Given the description of an element on the screen output the (x, y) to click on. 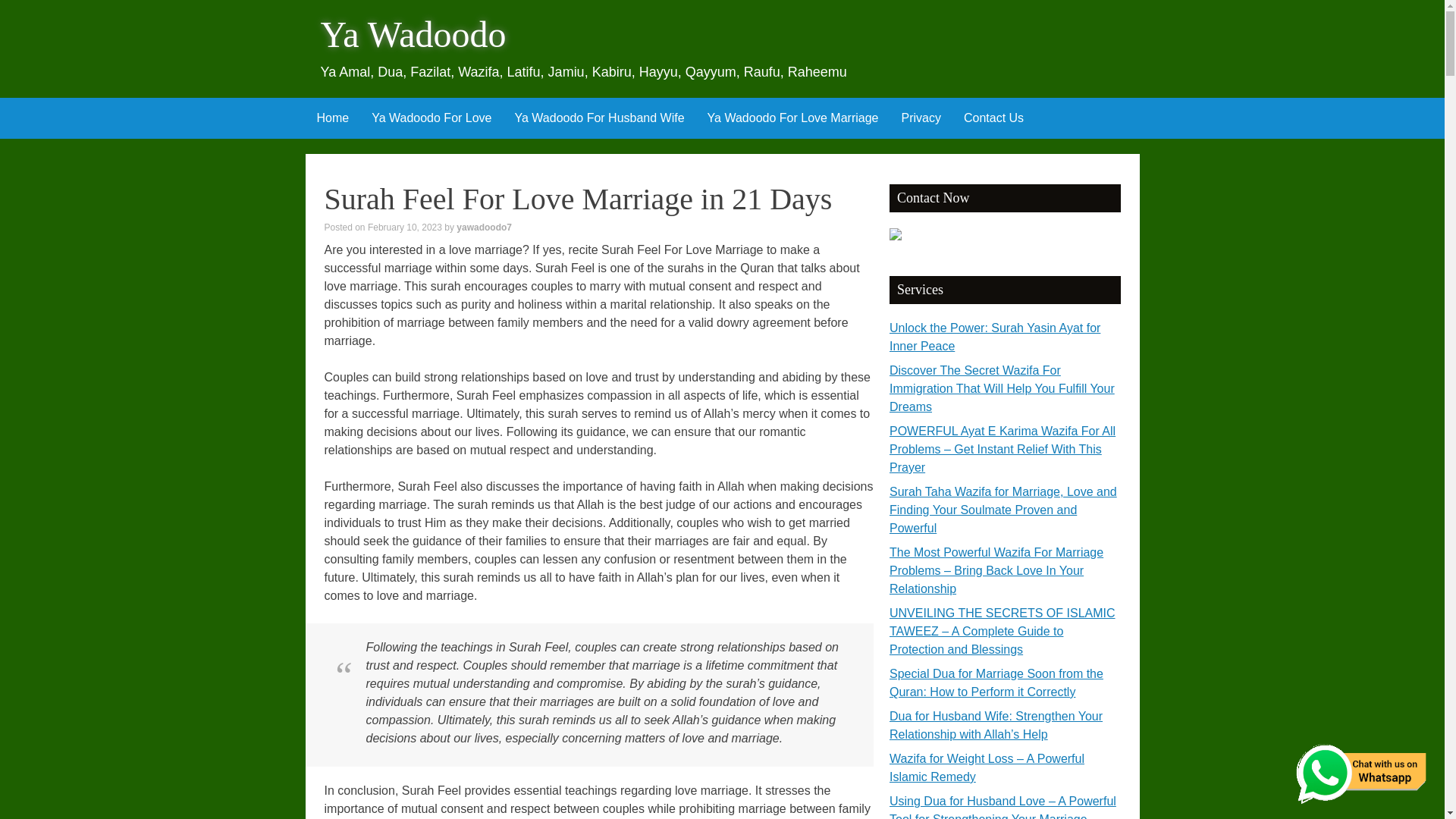
Home (331, 117)
February 10, 2023 (405, 226)
Contact Us (993, 117)
Ya Wadoodo For Love Marriage (792, 117)
Ya Wadoodo For Husband Wife (599, 117)
Ya Wadoodo For Love (430, 117)
Privacy (920, 117)
yawadoodo7 (484, 226)
Ya Wadoodo (412, 34)
Skip to content (315, 108)
